Given the description of an element on the screen output the (x, y) to click on. 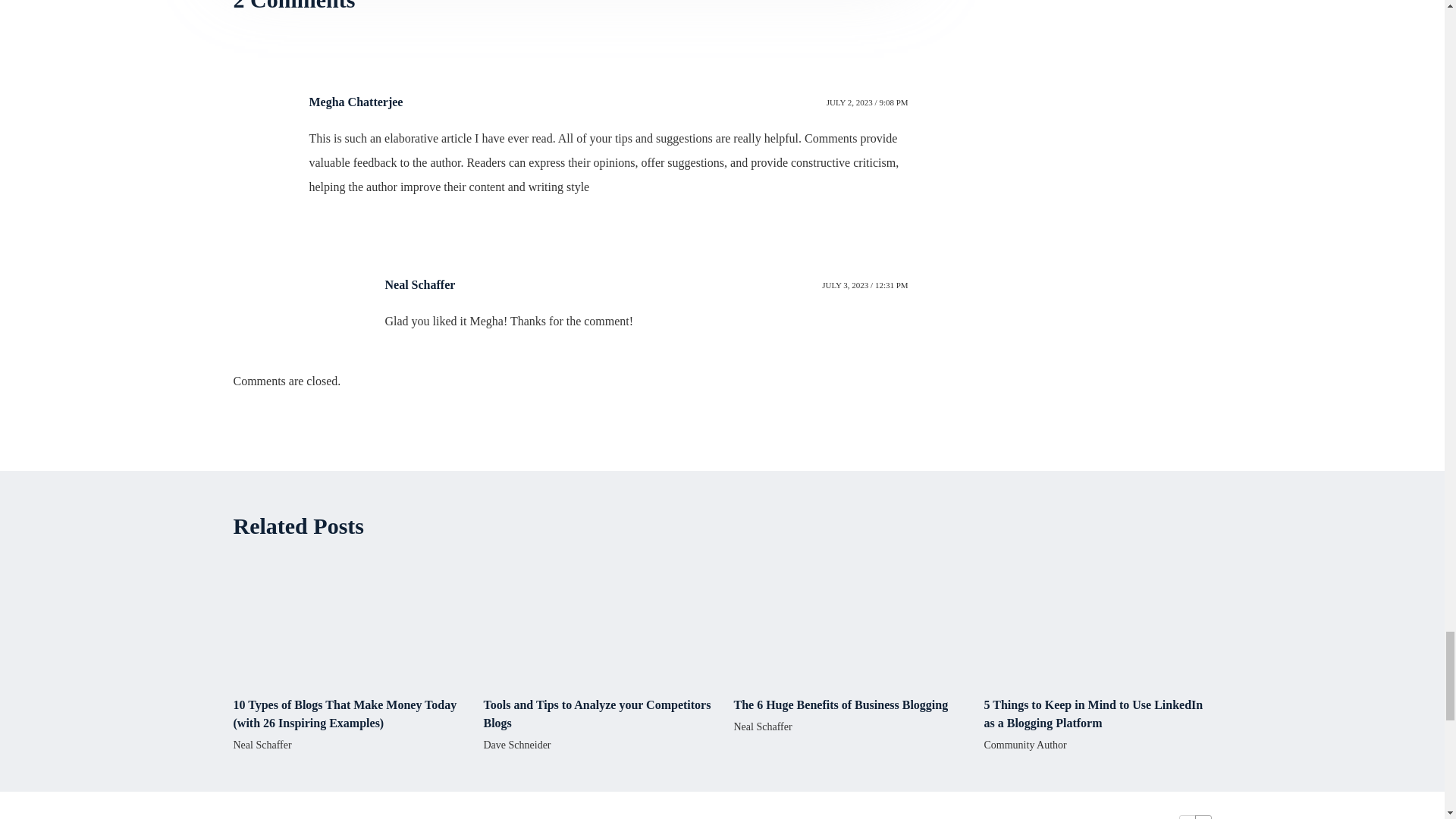
Posts by Neal Schaffer (762, 726)
Posts by Community Author (1025, 745)
Posts by Neal Schaffer (262, 745)
Posts by Dave Schneider (517, 745)
